Given the description of an element on the screen output the (x, y) to click on. 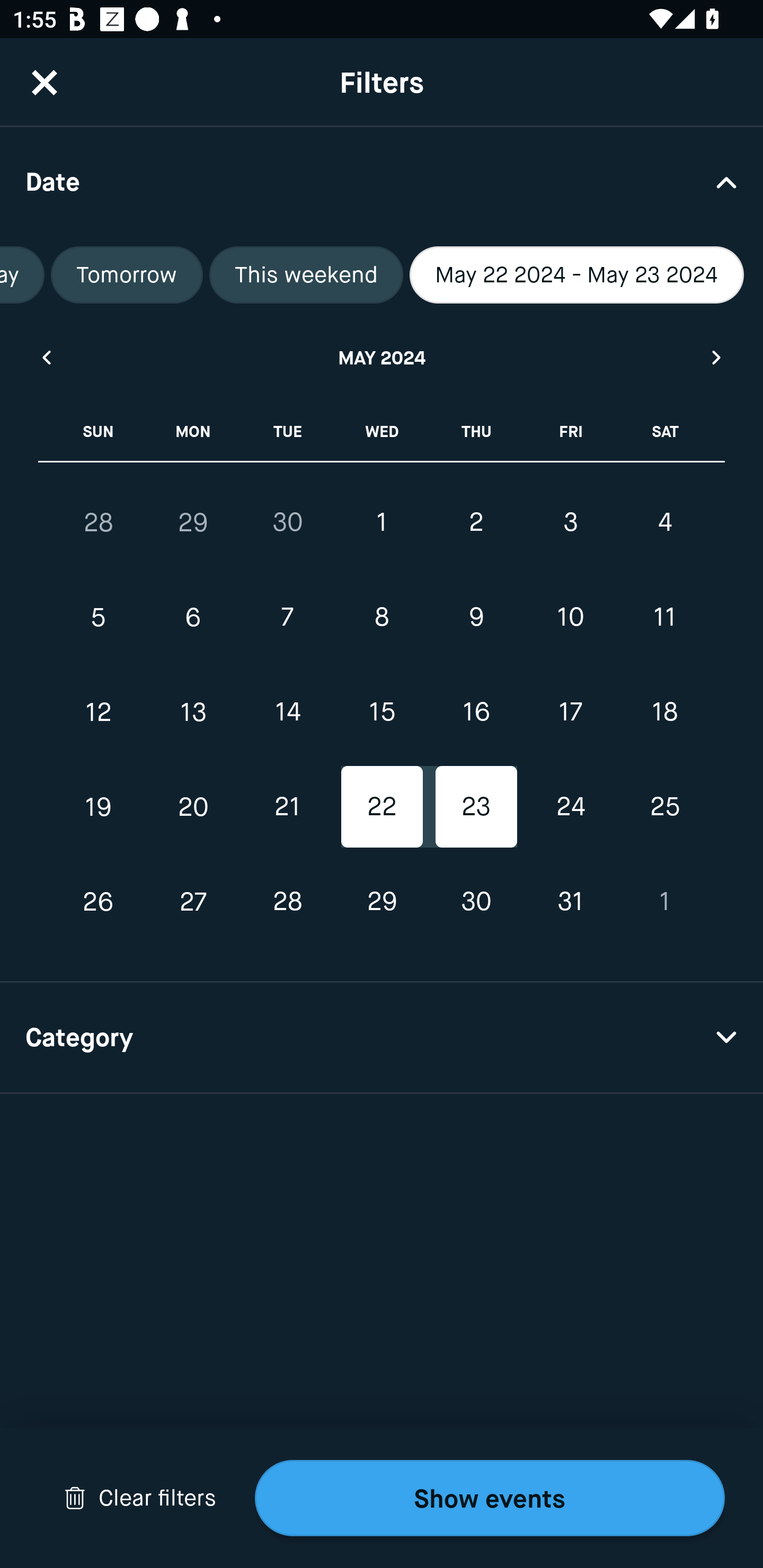
CloseButton (44, 82)
Date Drop Down Arrow (381, 181)
Tomorrow (126, 274)
This weekend (305, 274)
May 22 2024 - May 23 2024 (576, 274)
Previous (45, 357)
Next (717, 357)
28 (98, 522)
29 (192, 522)
30 (287, 522)
1 (381, 522)
2 (475, 522)
3 (570, 522)
4 (664, 522)
5 (98, 617)
6 (192, 617)
7 (287, 617)
8 (381, 617)
9 (475, 617)
10 (570, 617)
11 (664, 617)
12 (98, 711)
13 (192, 711)
14 (287, 711)
15 (381, 711)
16 (475, 711)
17 (570, 711)
18 (664, 711)
19 (98, 806)
20 (192, 806)
21 (287, 806)
22 (381, 806)
23 (475, 806)
24 (570, 806)
25 (664, 806)
26 (98, 901)
27 (192, 901)
28 (287, 901)
29 (381, 901)
30 (475, 901)
31 (570, 901)
1 (664, 901)
Category Drop Down Arrow (381, 1038)
Drop Down Arrow Clear filters (139, 1497)
Show events (489, 1497)
